Given the description of an element on the screen output the (x, y) to click on. 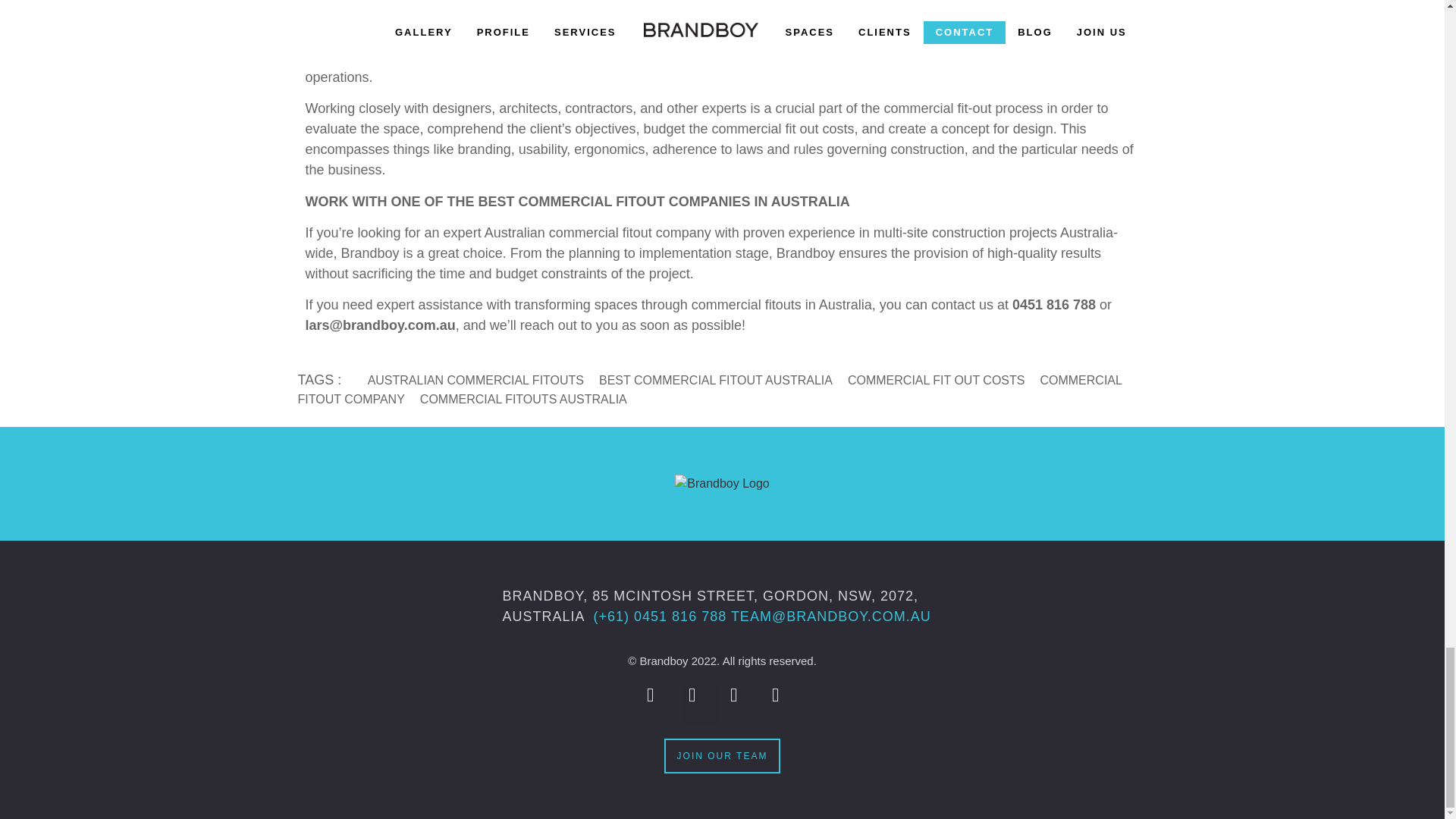
COMMERCIAL FIT OUT COSTS Tag (928, 379)
COMMERCIAL FITOUT COMPANY Tag (709, 389)
AUSTRALIAN COMMERCIAL FITOUTS Tag (467, 379)
COMMERCIAL FITOUTS AUSTRALIA Tag (515, 399)
BEST COMMERCIAL FITOUT AUSTRALIA Tag (707, 379)
